Given the description of an element on the screen output the (x, y) to click on. 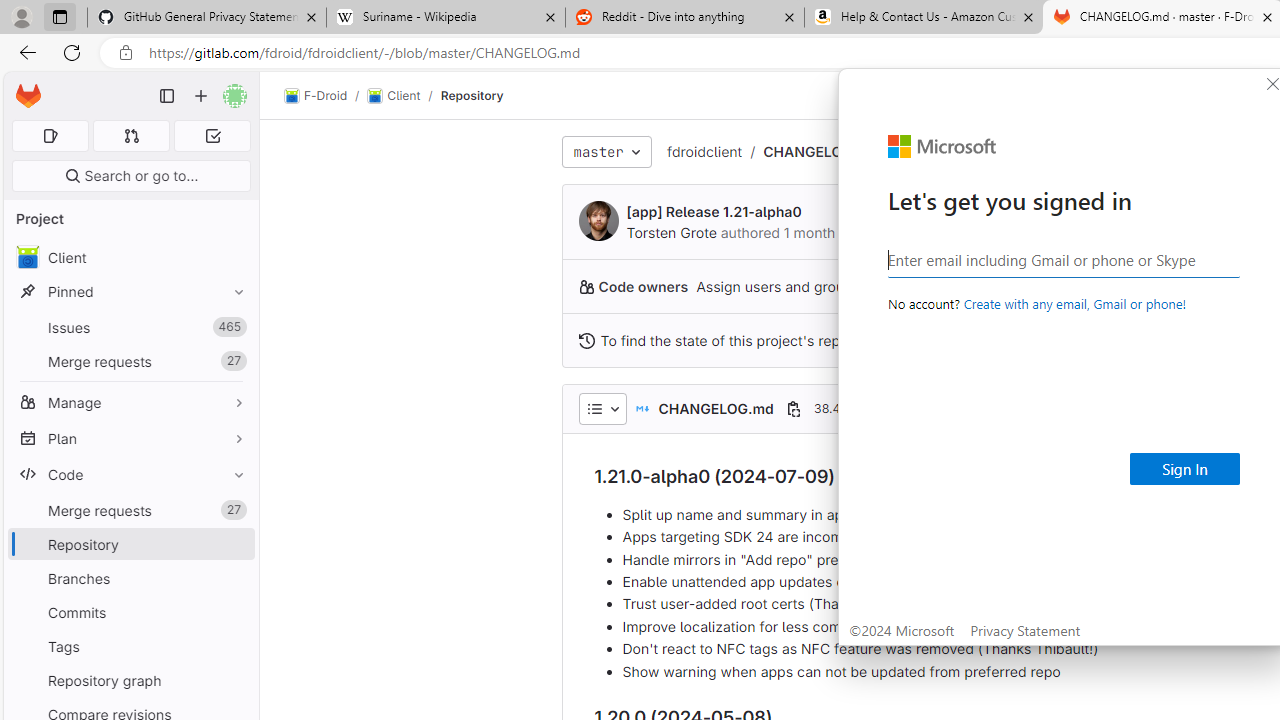
To-Do list 0 (212, 136)
Manage (130, 402)
Class: s16 gl-mr-1 gl-align-text-bottom (586, 340)
Commits (130, 612)
Repository (472, 95)
Pin Repository graph (234, 680)
F-Droid (316, 96)
Pin Commits (234, 611)
Reddit - Dive into anything (684, 17)
Create new... (201, 96)
GitHub General Privacy Statement - GitHub Docs (207, 17)
Torsten Grote's avatar (598, 220)
Commits (130, 612)
F-Droid/ (326, 96)
